Given the description of an element on the screen output the (x, y) to click on. 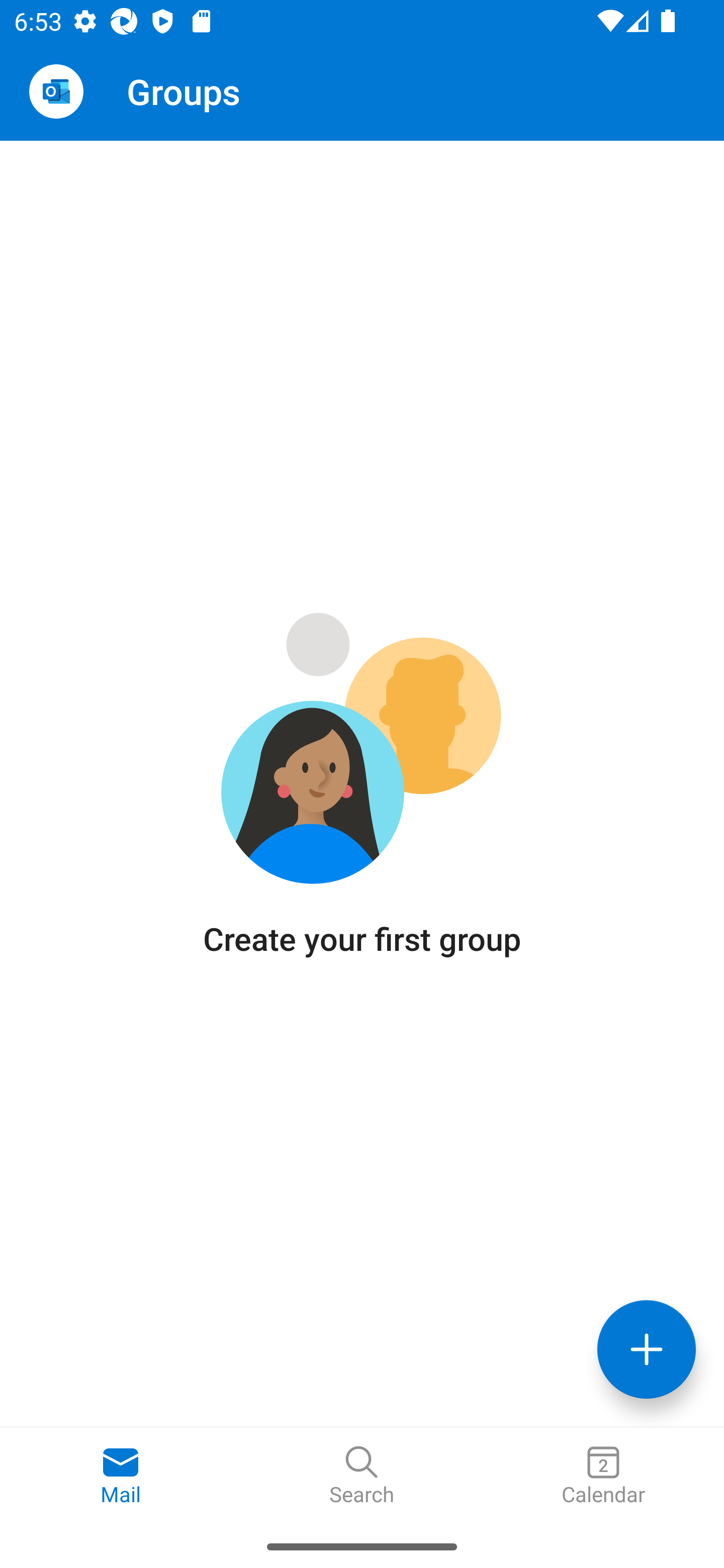
Open Navigation Drawer (55, 91)
New Group (646, 1348)
Search (361, 1475)
Calendar (603, 1475)
